Given the description of an element on the screen output the (x, y) to click on. 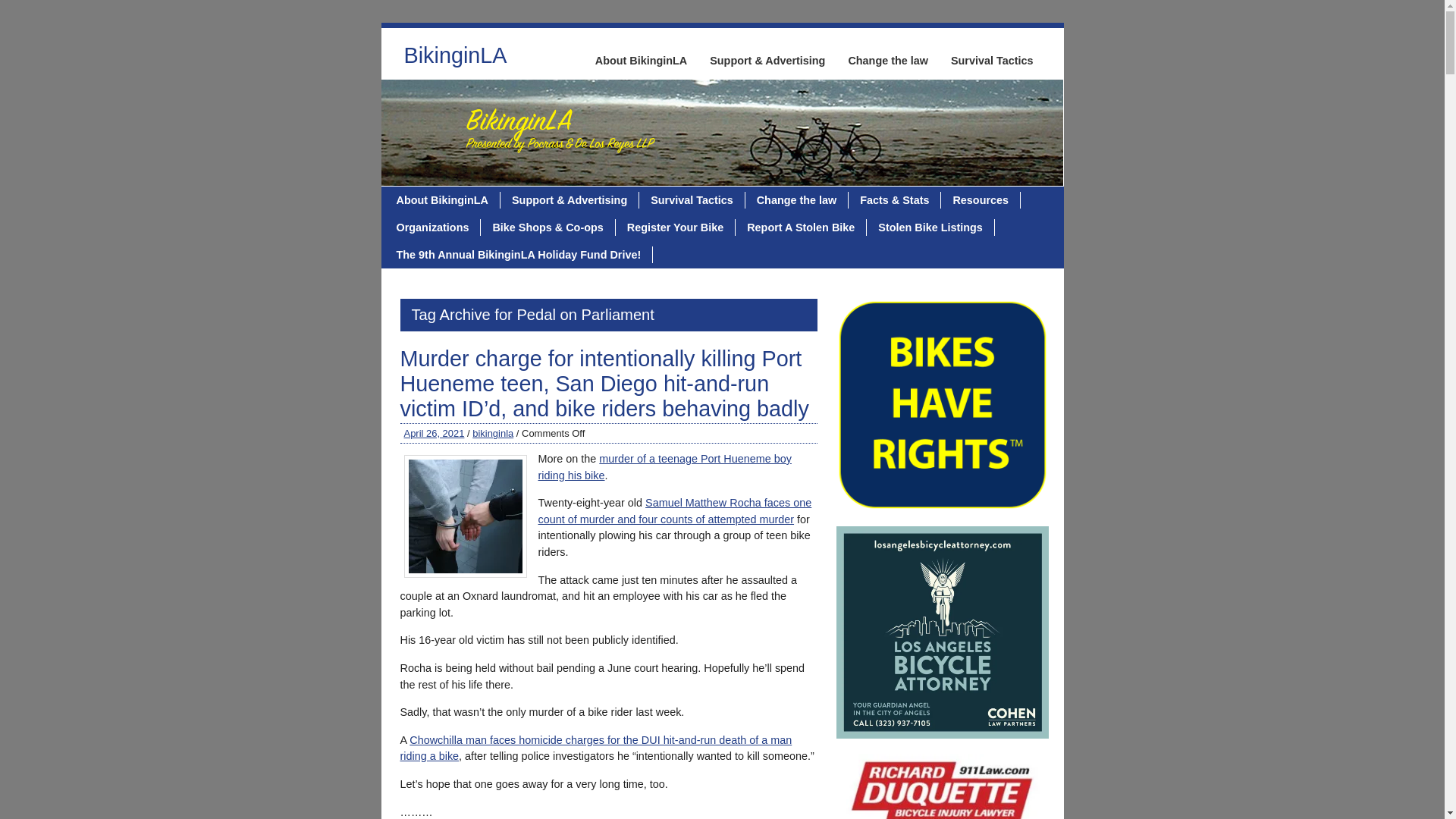
Resources (980, 199)
The 9th Annual BikinginLA Holiday Fund Drive! (519, 254)
Change the law (887, 60)
Posts by bikinginla (492, 432)
Stolen Bike Listings (930, 227)
BikinginLA (454, 59)
April 26, 2021 (433, 432)
About BikinginLA (640, 60)
Organizations (433, 227)
About BikinginLA (442, 199)
bikinginla (492, 432)
Survival Tactics (692, 199)
Report A Stolen Bike (800, 227)
